Given the description of an element on the screen output the (x, y) to click on. 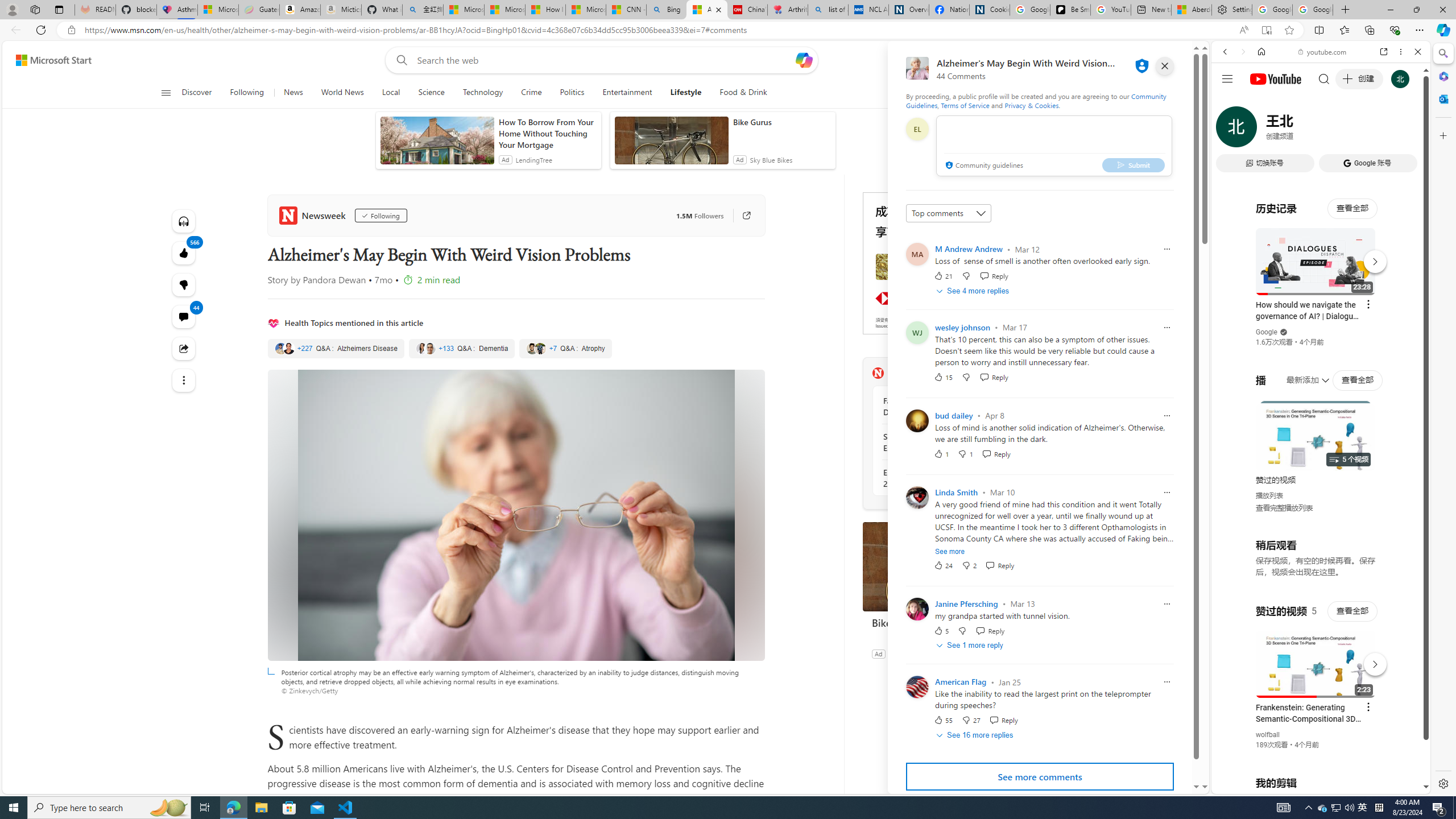
Favorites (1344, 29)
wolfball (1268, 734)
Aberdeen, Hong Kong SAR hourly forecast | Microsoft Weather (1191, 9)
Side bar (1443, 418)
Class: button-glyph (165, 92)
Trailer #2 [HD] (1320, 337)
Entertainment (626, 92)
Refresh (40, 29)
See more comments (1039, 776)
